Given the description of an element on the screen output the (x, y) to click on. 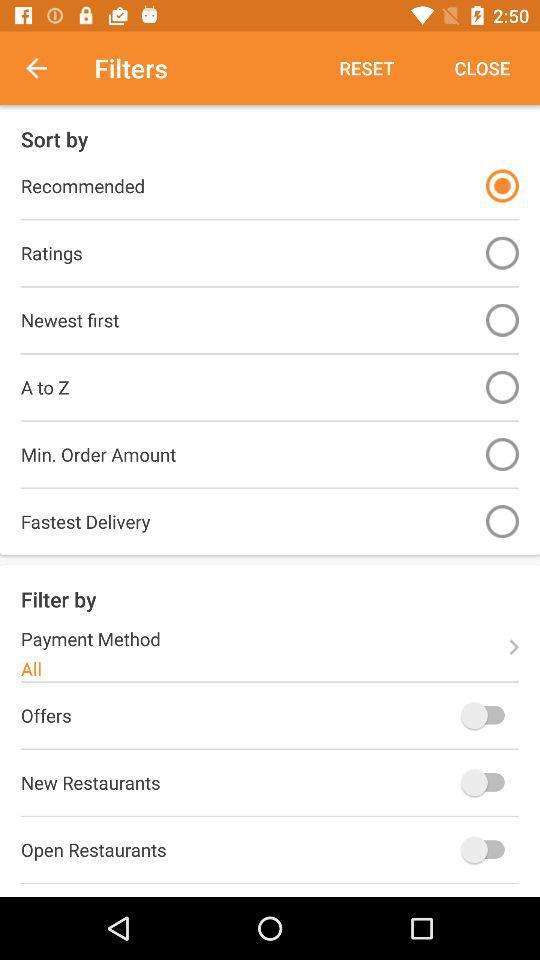
press close (482, 68)
